Given the description of an element on the screen output the (x, y) to click on. 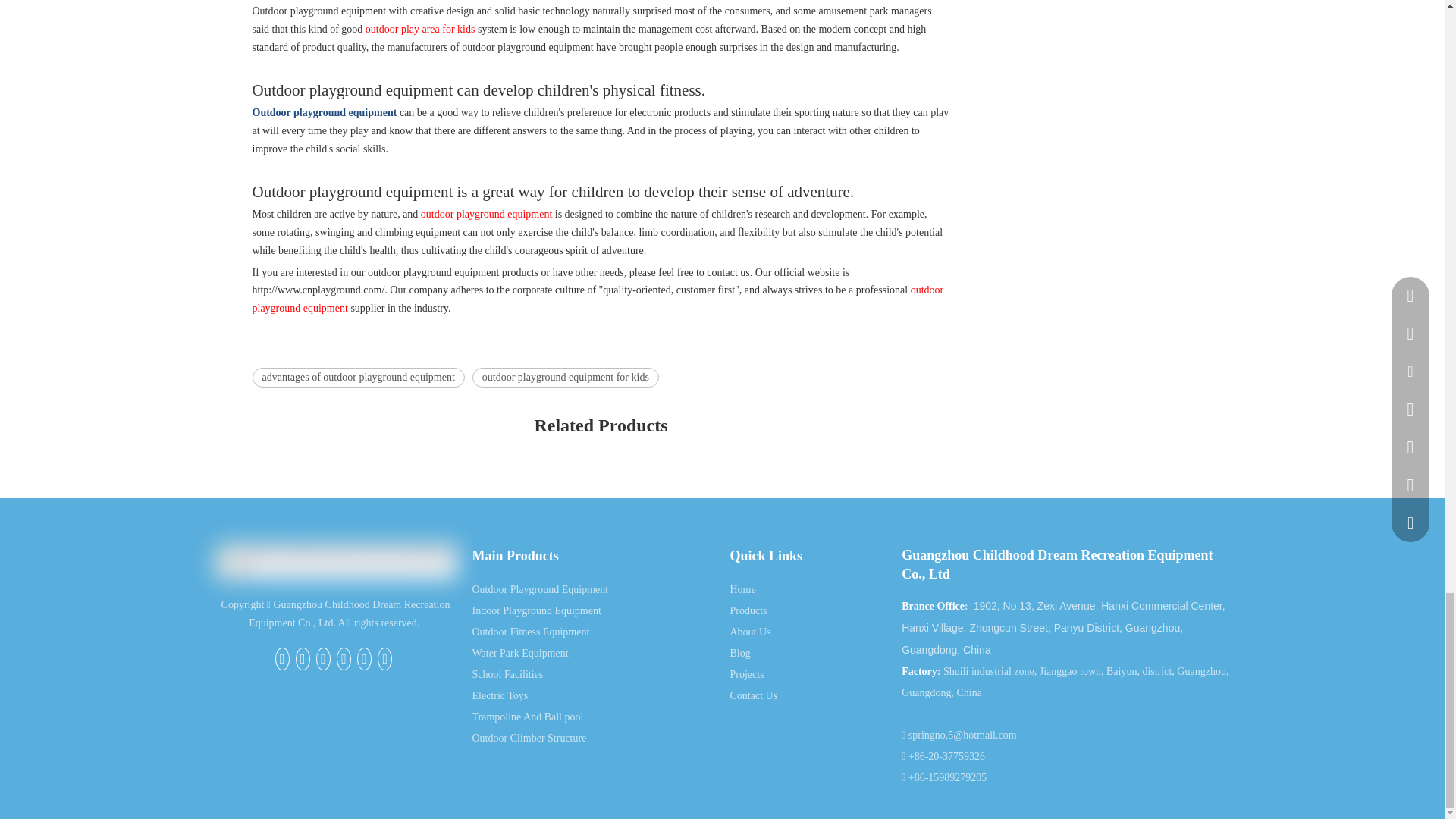
Outdoor Fitness Equipment (530, 632)
Facebook (282, 658)
Instagram (384, 658)
outdoor playground equipment for kids (565, 377)
Indoor Playground Equipment (535, 610)
Outdoor Playground Equipment (539, 589)
advantages of outdoor playground equipment (357, 377)
Twitter (343, 658)
Guangzhou Childhood Dream Recreation Equipment Co., Ltd (335, 561)
Youtube (363, 658)
Linkedin (322, 658)
